Given the description of an element on the screen output the (x, y) to click on. 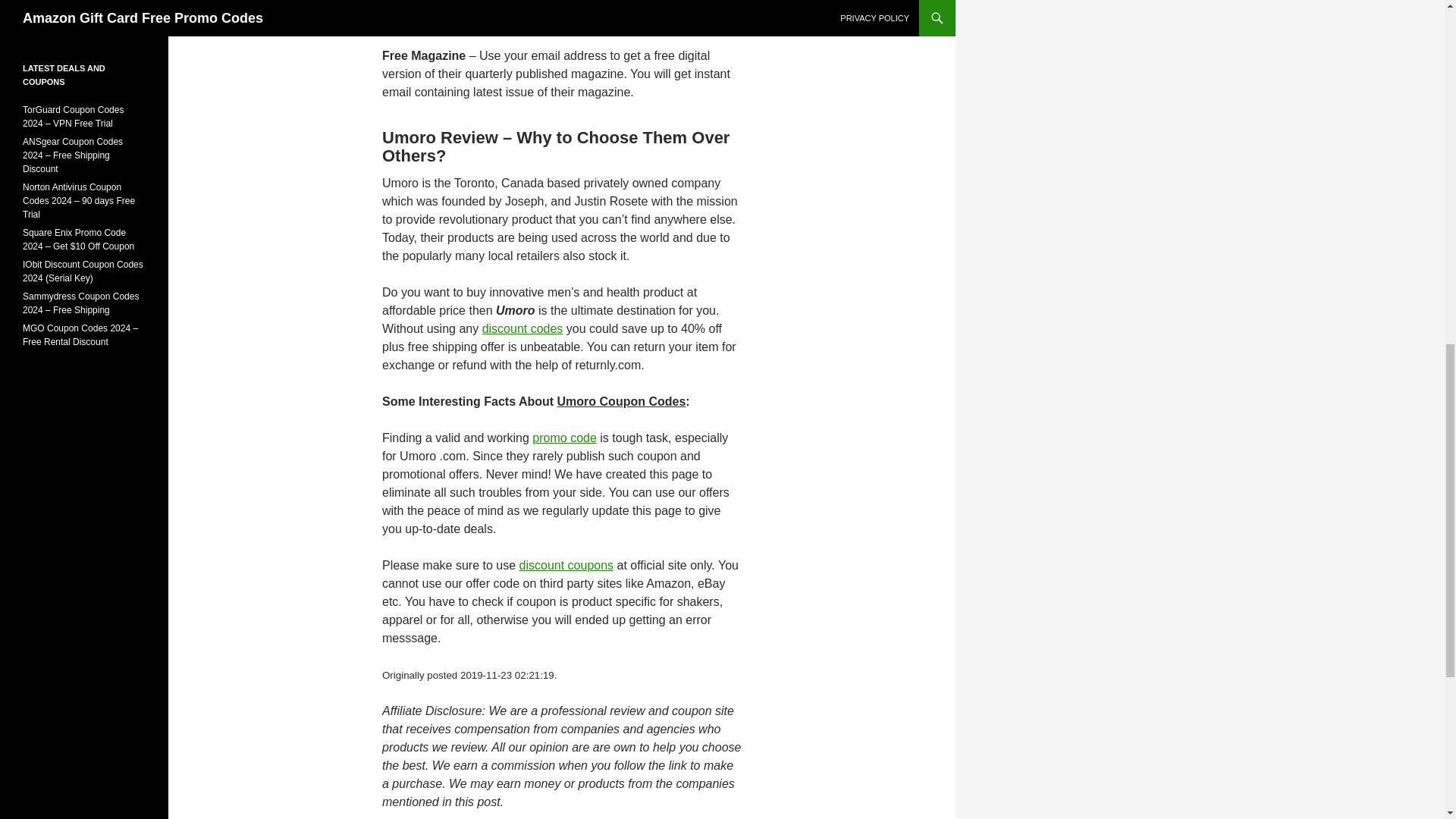
discount codes (522, 328)
promo code (564, 437)
discount coupons (566, 564)
bonus rewards (559, 12)
